Given the description of an element on the screen output the (x, y) to click on. 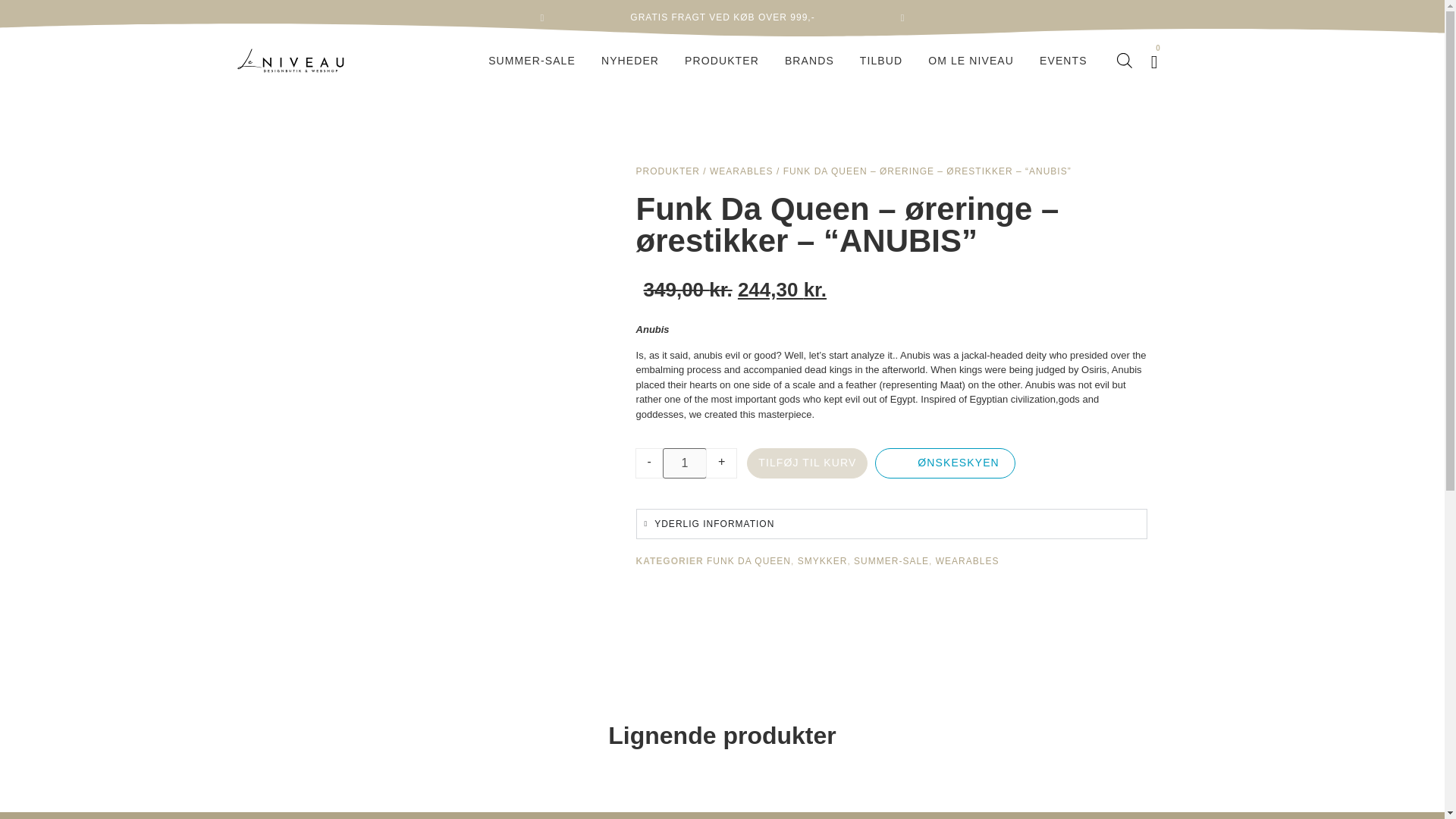
1 (684, 462)
PRODUKTER (722, 60)
SUMMER-SALE (531, 60)
NYHEDER (629, 60)
BRANDS (809, 60)
